Given the description of an element on the screen output the (x, y) to click on. 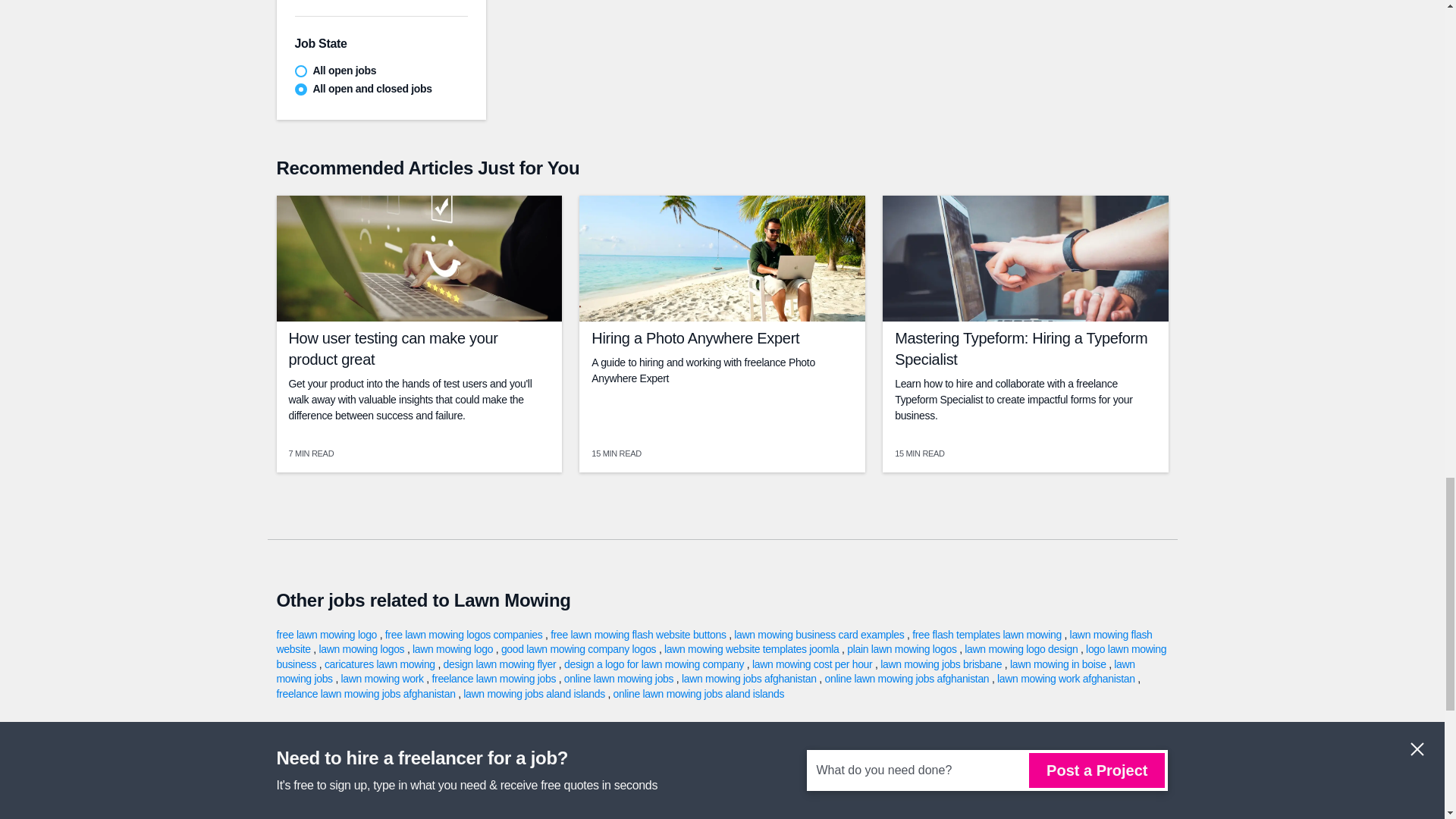
Hiring a Photo Anywhere Expert (695, 338)
free lawn mowing flash website buttons (639, 634)
free lawn mowing logo (327, 634)
How user testing can make your product great (392, 348)
free lawn mowing logos companies (464, 634)
Mastering Typeform: Hiring a Typeform Specialist (1021, 348)
